Given the description of an element on the screen output the (x, y) to click on. 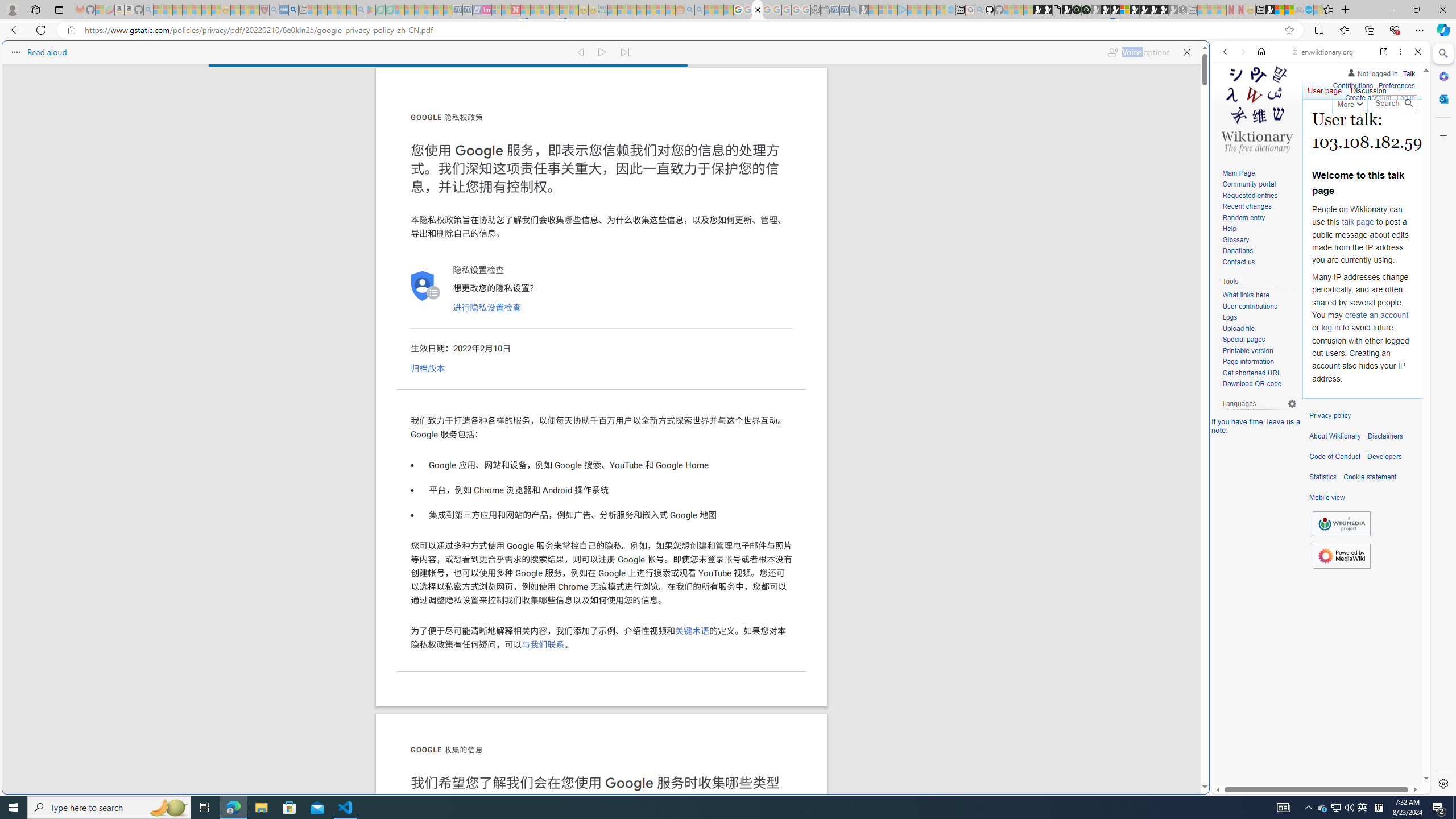
Kinda Frugal - MSN - Sleeping (651, 9)
Community portal (1259, 184)
SEARCH TOOLS (1350, 130)
Play Zoo Boom in your browser | Games from Microsoft Start (1047, 9)
MSNBC - MSN - Sleeping (611, 9)
Wikimedia Foundation (1341, 524)
Page information (1259, 361)
Mobile view (1326, 497)
Create account (1367, 98)
